Given the description of an element on the screen output the (x, y) to click on. 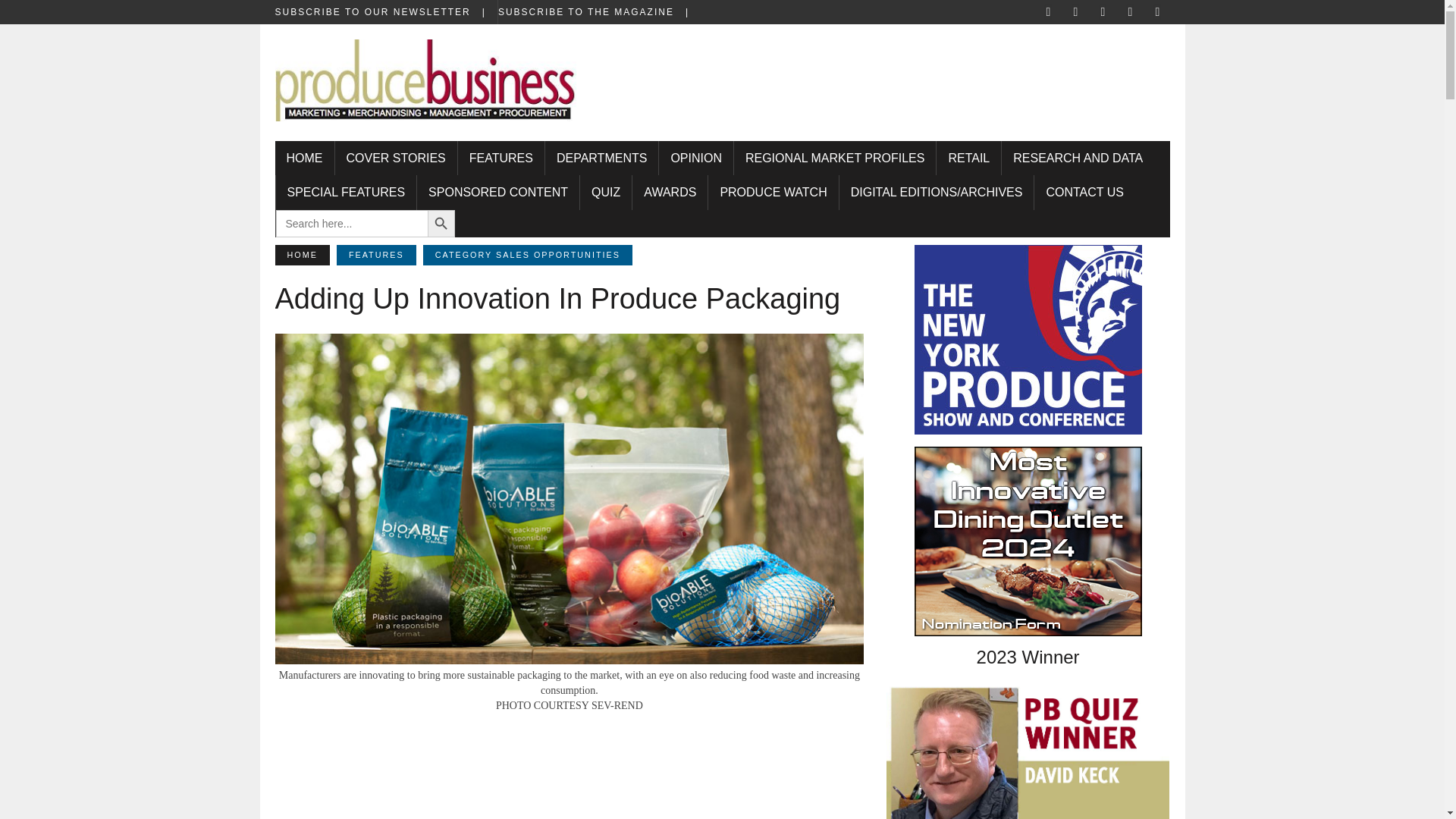
3rd party ad content (890, 73)
OPINION (696, 158)
SUBSCRIBE TO OUR NEWSLETTER (385, 12)
SUBSCRIBE TO THE MAGAZINE (598, 12)
DEPARTMENTS (601, 158)
HOME (304, 158)
FEATURES (501, 158)
Produce Business (425, 89)
REGIONAL MARKET PROFILES (834, 158)
3rd party ad content (568, 762)
